Given the description of an element on the screen output the (x, y) to click on. 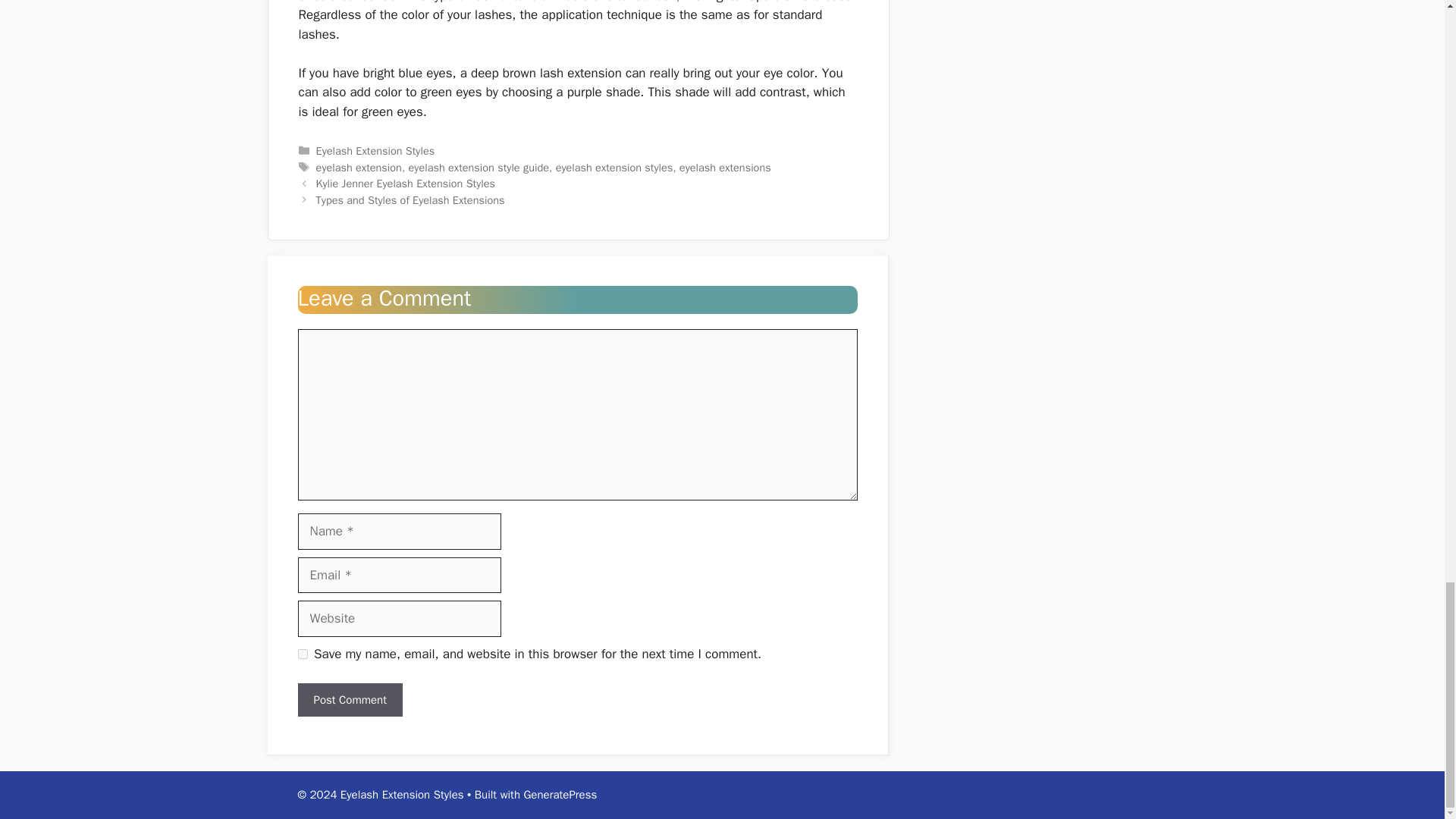
eyelash extension style guide (478, 167)
Eyelash Extension Styles (375, 151)
Types and Styles of Eyelash Extensions (410, 200)
Kylie Jenner Eyelash Extension Styles (405, 183)
Post Comment (349, 700)
Post Comment (349, 700)
eyelash extensions (725, 167)
eyelash extension (358, 167)
GeneratePress (559, 794)
eyelash extension styles (614, 167)
yes (302, 654)
